Given the description of an element on the screen output the (x, y) to click on. 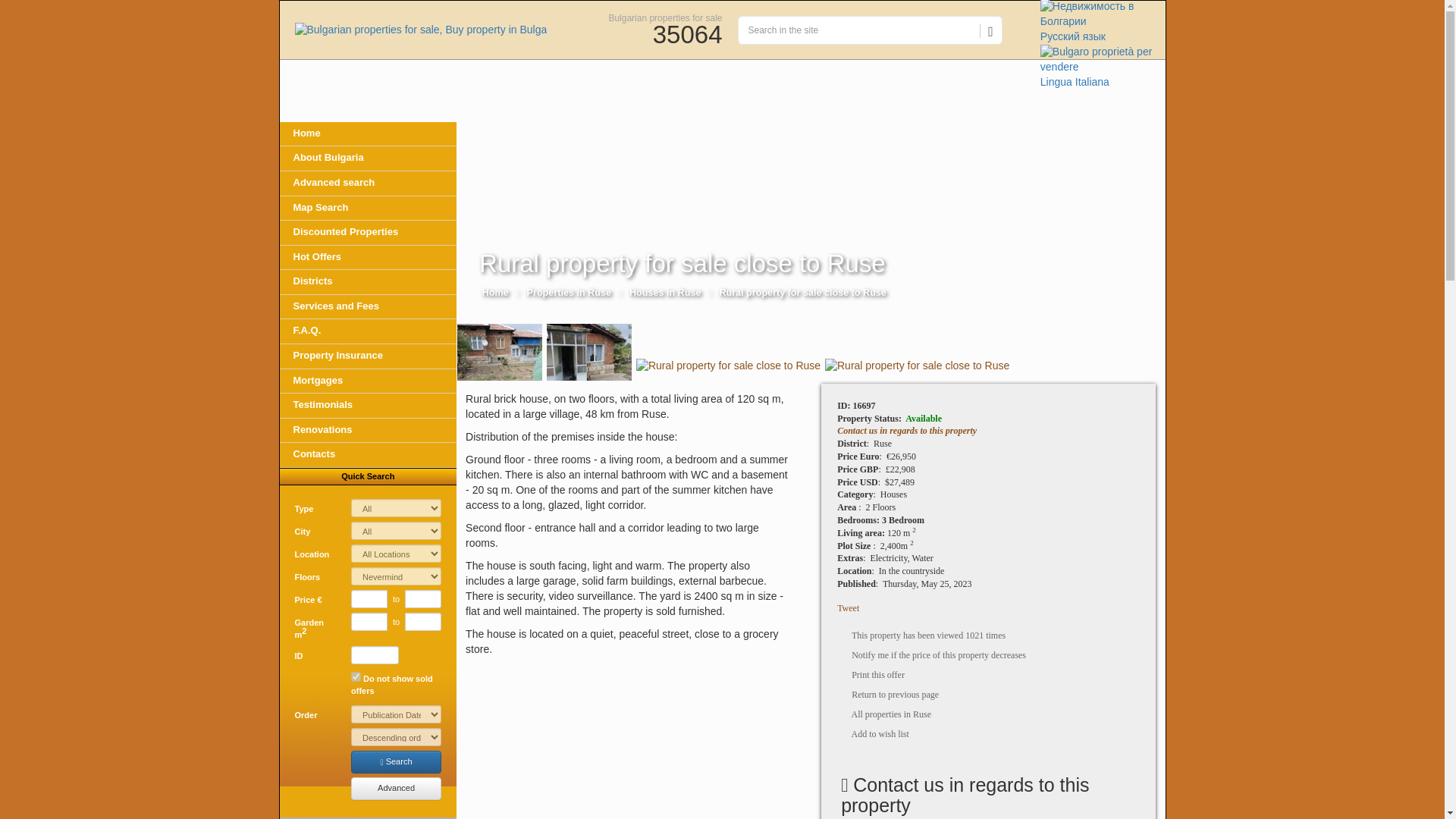
Discounted Bulgarian properties for sale (368, 232)
Services and Fees (368, 306)
Hot Offers (368, 257)
Lingua Italiana (1103, 67)
Bulgarian property services and fees (368, 306)
Home (368, 134)
Map Search (368, 208)
Discounted Properties (368, 232)
Advanced search (368, 183)
Bulgarian mortgages (368, 380)
